Given the description of an element on the screen output the (x, y) to click on. 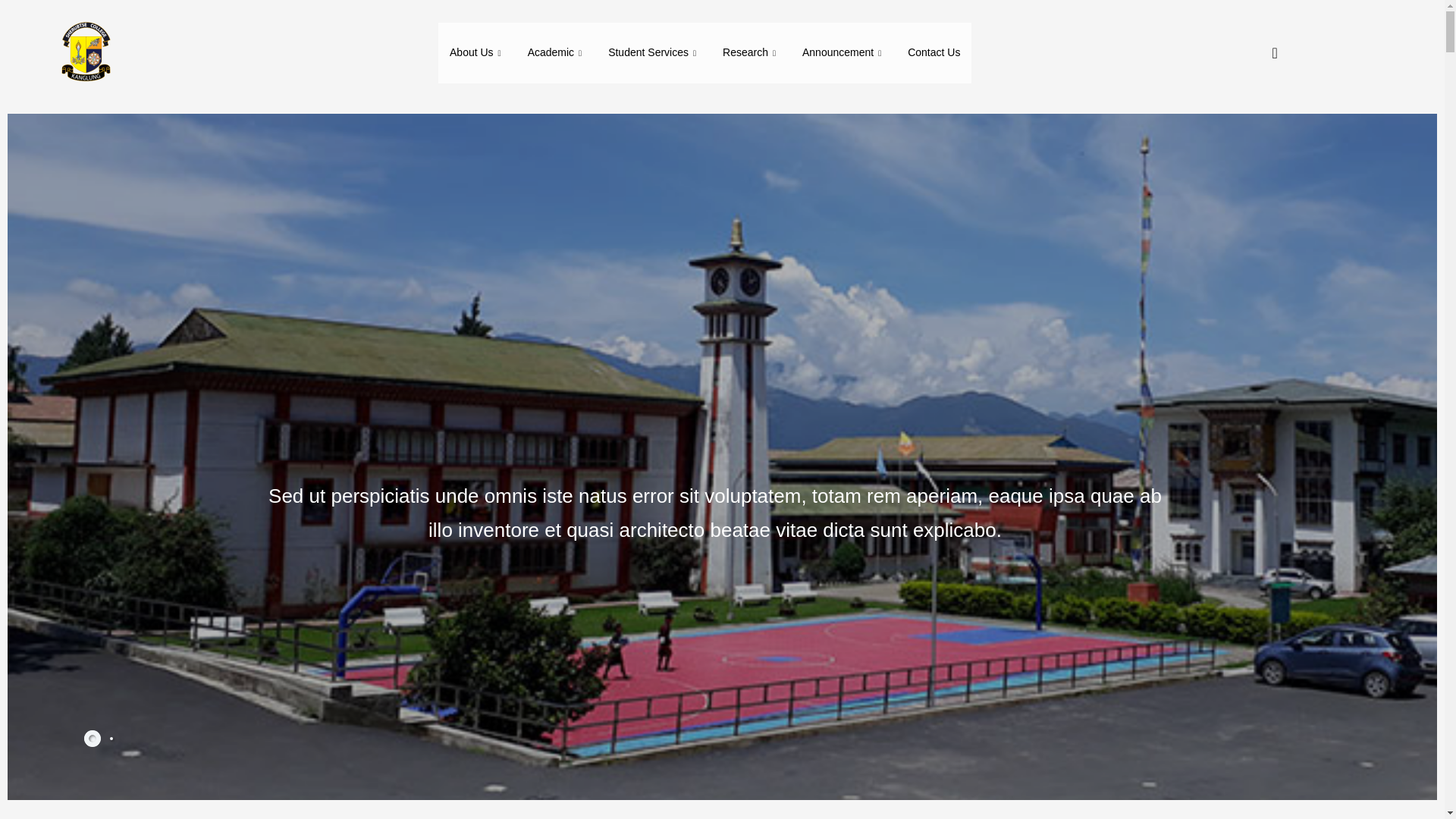
Academic (556, 52)
Contact Us (933, 52)
Research (750, 52)
About Us (477, 52)
Announcement (843, 52)
Student Services (653, 52)
logo-removebg-preview-1 (84, 52)
